Given the description of an element on the screen output the (x, y) to click on. 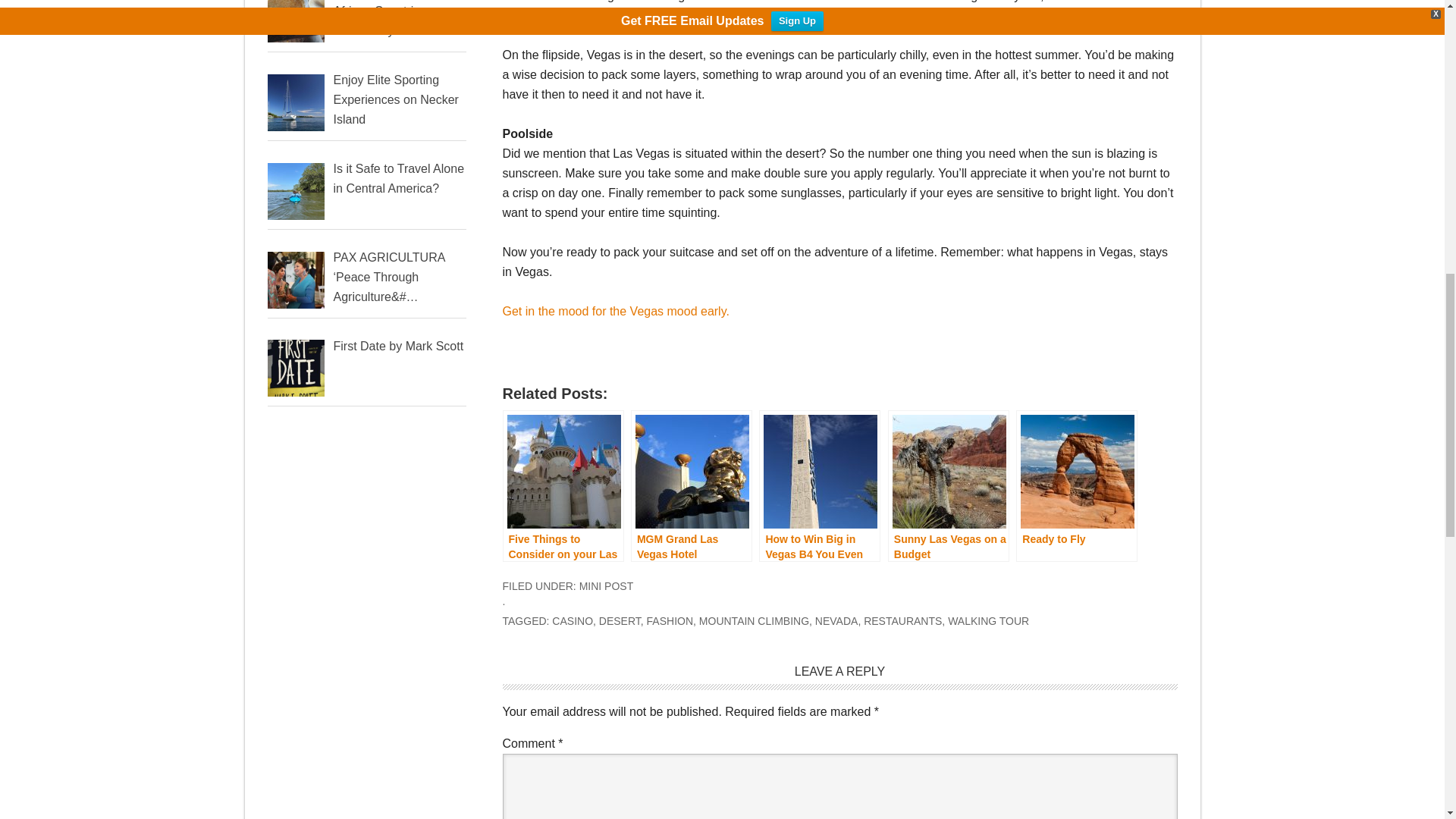
NEVADA (837, 621)
MINI POST (606, 585)
MOUNTAIN CLIMBING (753, 621)
WALKING TOUR (988, 621)
RESTAURANTS (902, 621)
Get in the mood for the Vegas mood early. (615, 310)
FASHION (669, 621)
CASINO (571, 621)
DESERT (619, 621)
